Given the description of an element on the screen output the (x, y) to click on. 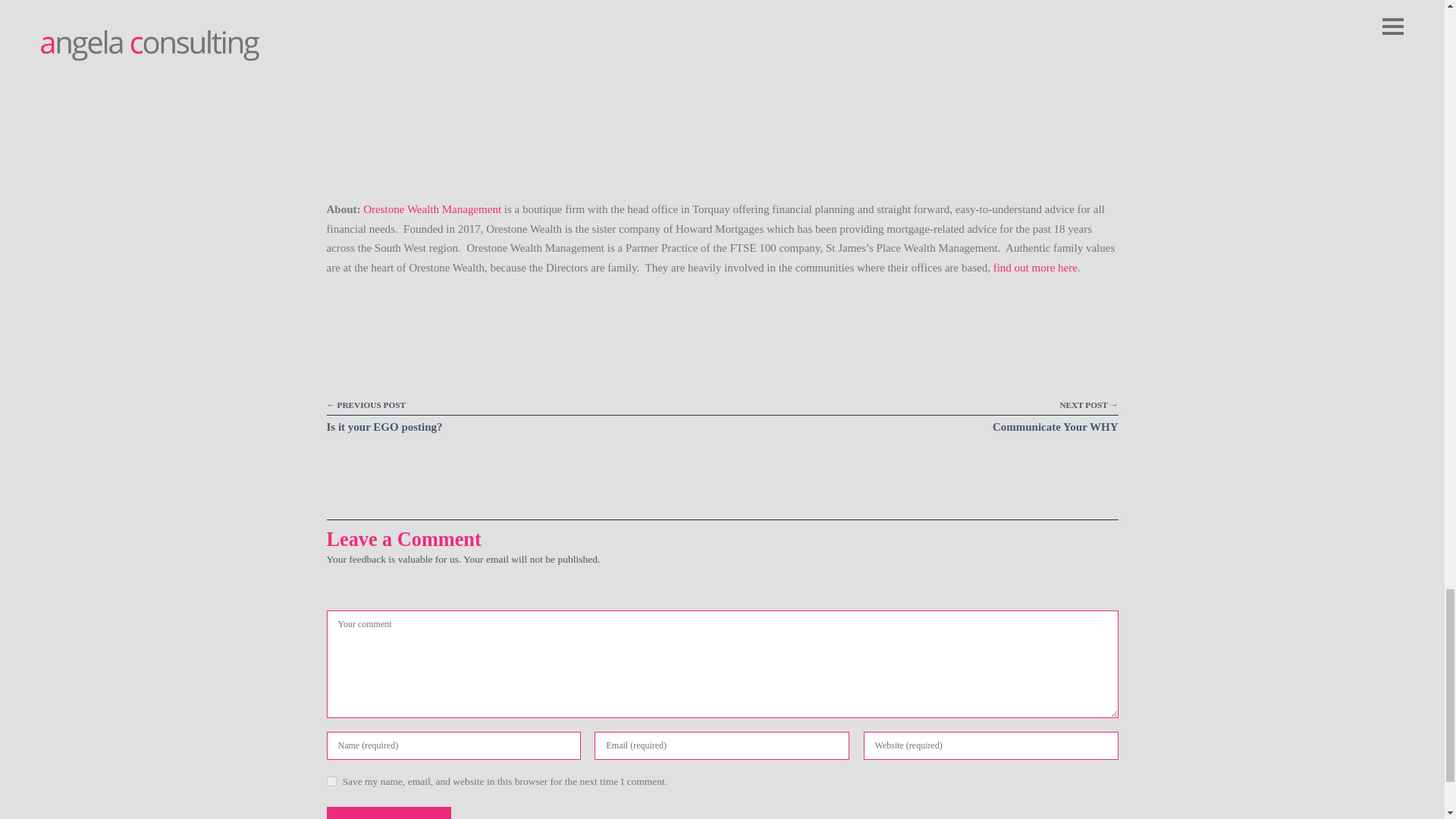
find out more here (1034, 267)
Orestone Wealth Management (431, 209)
yes (331, 781)
